Given the description of an element on the screen output the (x, y) to click on. 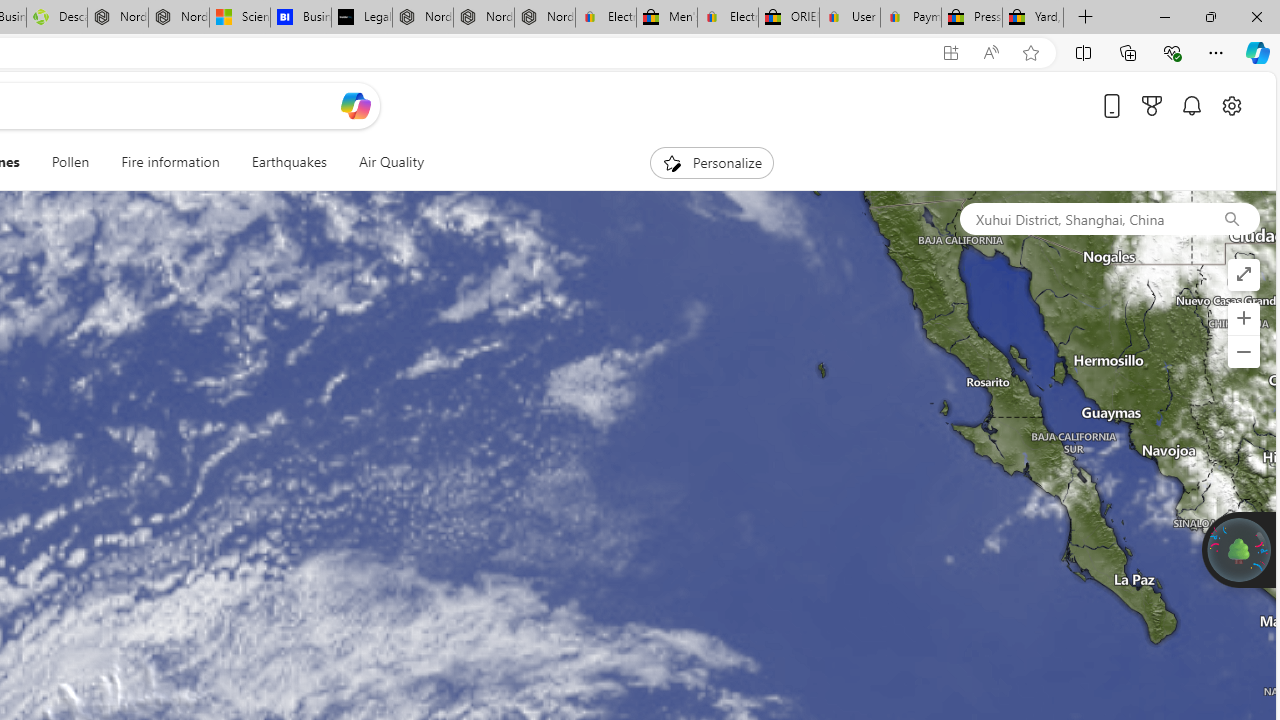
Xuhui District, Shanghai, China (1081, 218)
App available. Install Microsoft Start Weather (950, 53)
Enter full screen mode (1243, 274)
Earthquakes (288, 162)
Pollen (70, 162)
Air Quality (382, 162)
